Given the description of an element on the screen output the (x, y) to click on. 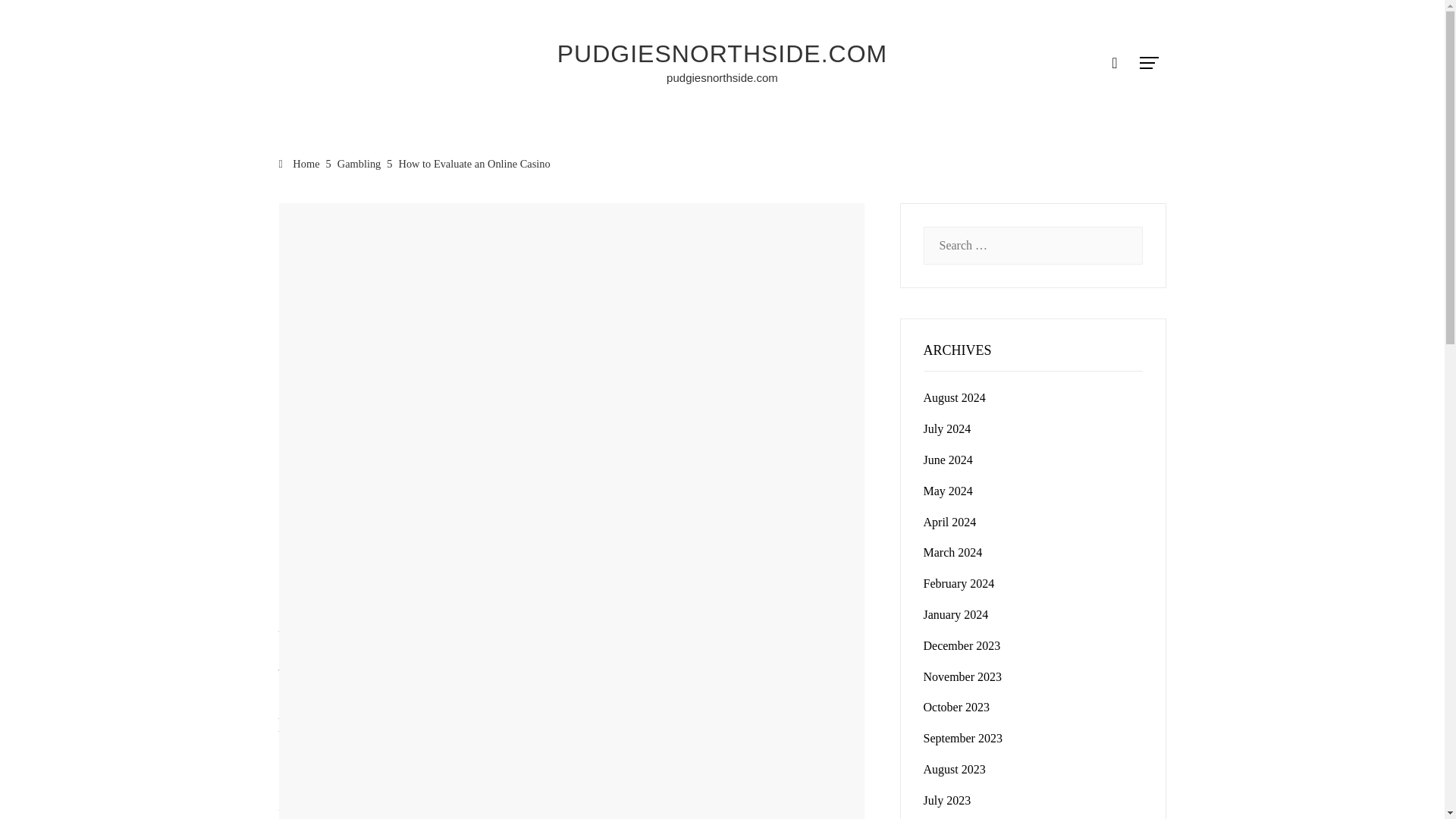
May 2024 (947, 490)
PUDGIESNORTHSIDE.COM (721, 53)
April 2024 (949, 521)
October 2023 (956, 707)
February 2024 (958, 583)
December 2023 (962, 645)
August 2023 (954, 768)
pudgiesnorthside.com (721, 77)
Home (299, 163)
August 2024 (954, 397)
